Given the description of an element on the screen output the (x, y) to click on. 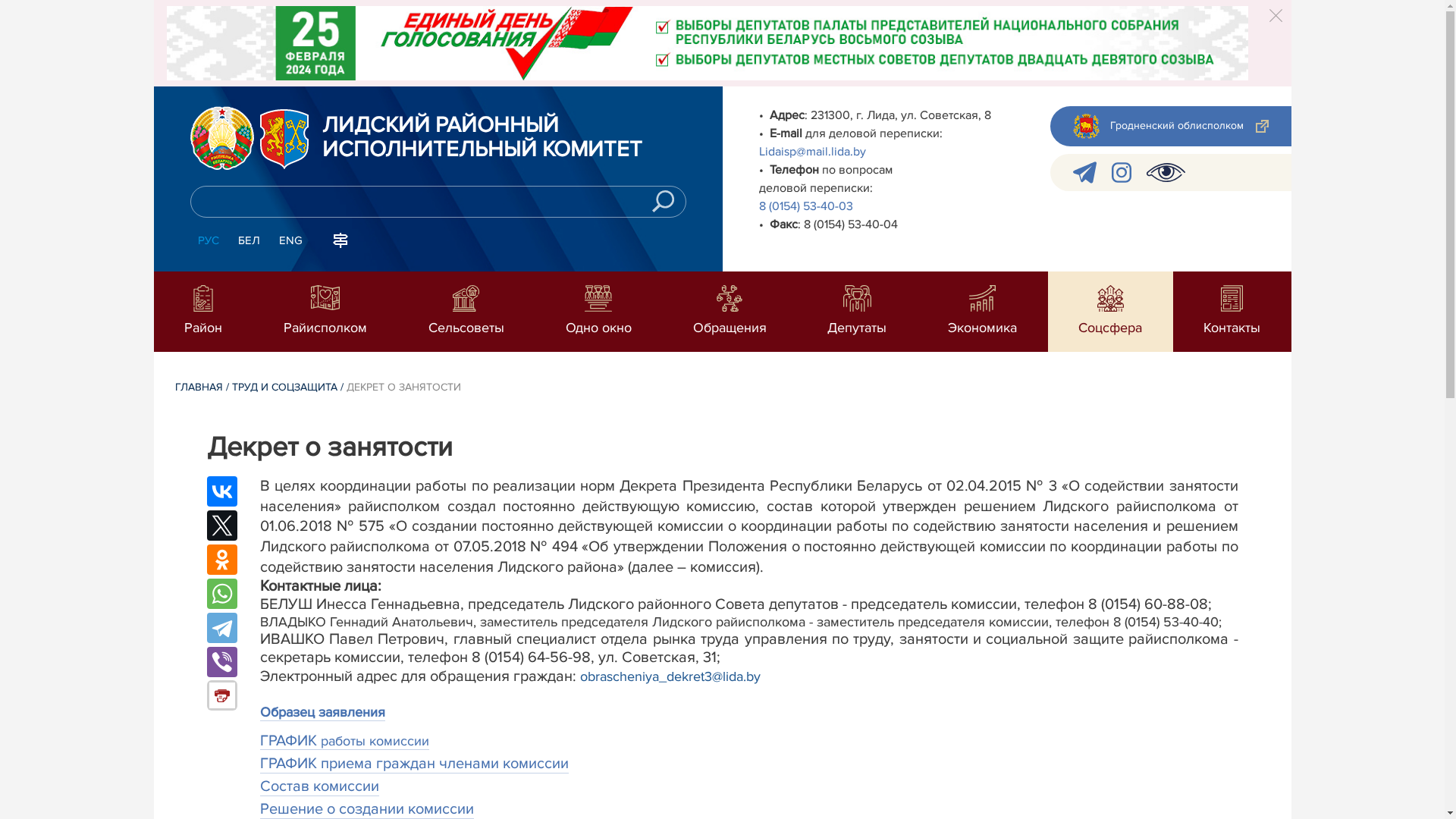
instagram Element type: hover (1121, 172)
Telegram Element type: hover (221, 627)
Viber Element type: hover (221, 661)
WhatsApp Element type: hover (221, 593)
Twitter Element type: hover (221, 525)
Lidaisp@mail.lida.by Element type: text (811, 151)
8 (0154) 53-40-03 Element type: text (805, 205)
telegram Element type: hover (1083, 172)
ENG Element type: text (290, 240)
